Given the description of an element on the screen output the (x, y) to click on. 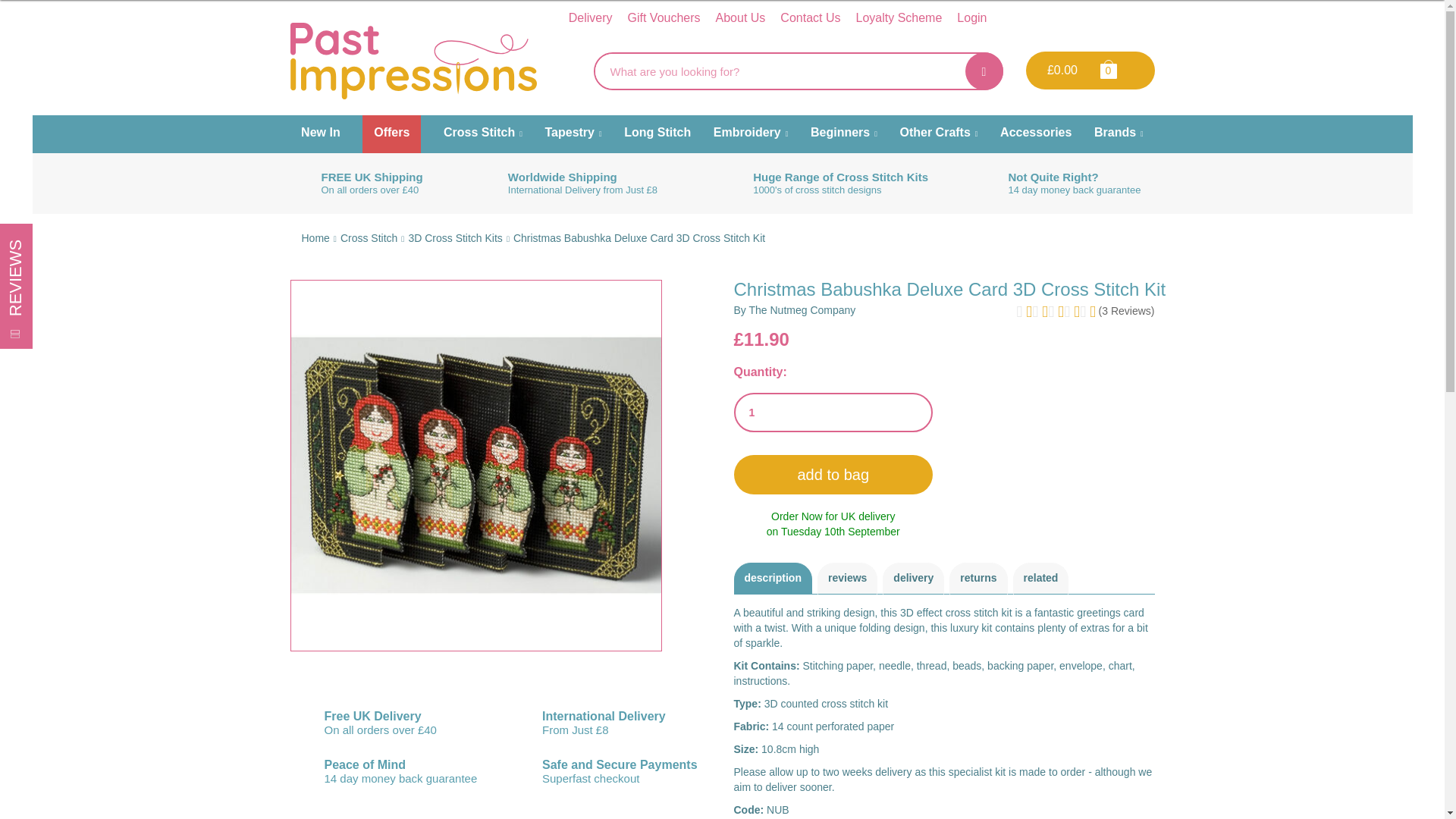
reviews (846, 578)
1 (833, 412)
Follow us on Instagram (1147, 17)
Add To Bag (833, 475)
Follow us on Pinterest (1122, 17)
Offers (391, 134)
Bag (1106, 68)
returns (978, 578)
Cross Stitch (368, 237)
delivery (912, 578)
